Given the description of an element on the screen output the (x, y) to click on. 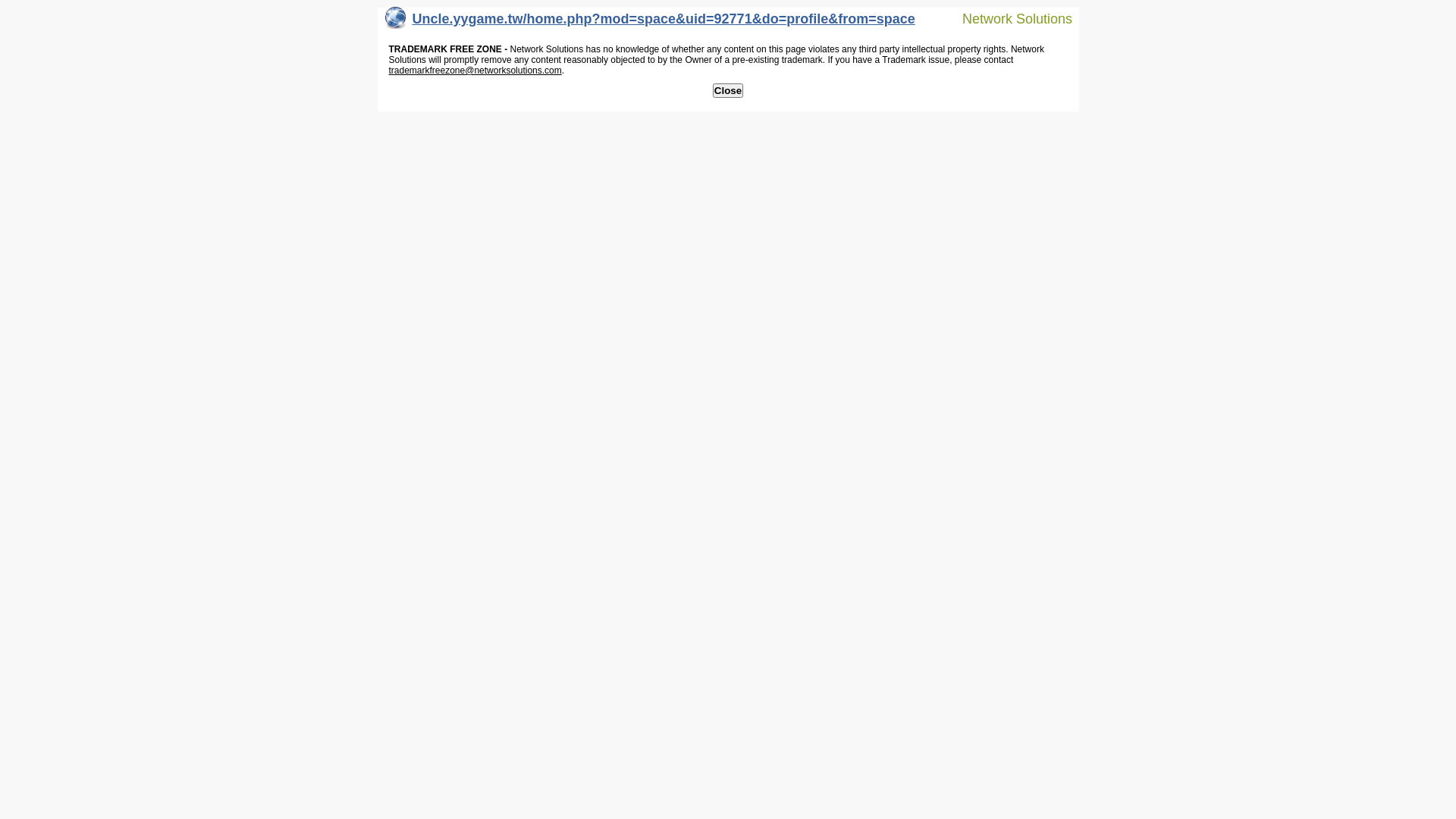
trademarkfreezone@networksolutions.com Element type: text (474, 70)
Close Element type: text (727, 90)
Network Solutions Element type: text (1007, 17)
